Given the description of an element on the screen output the (x, y) to click on. 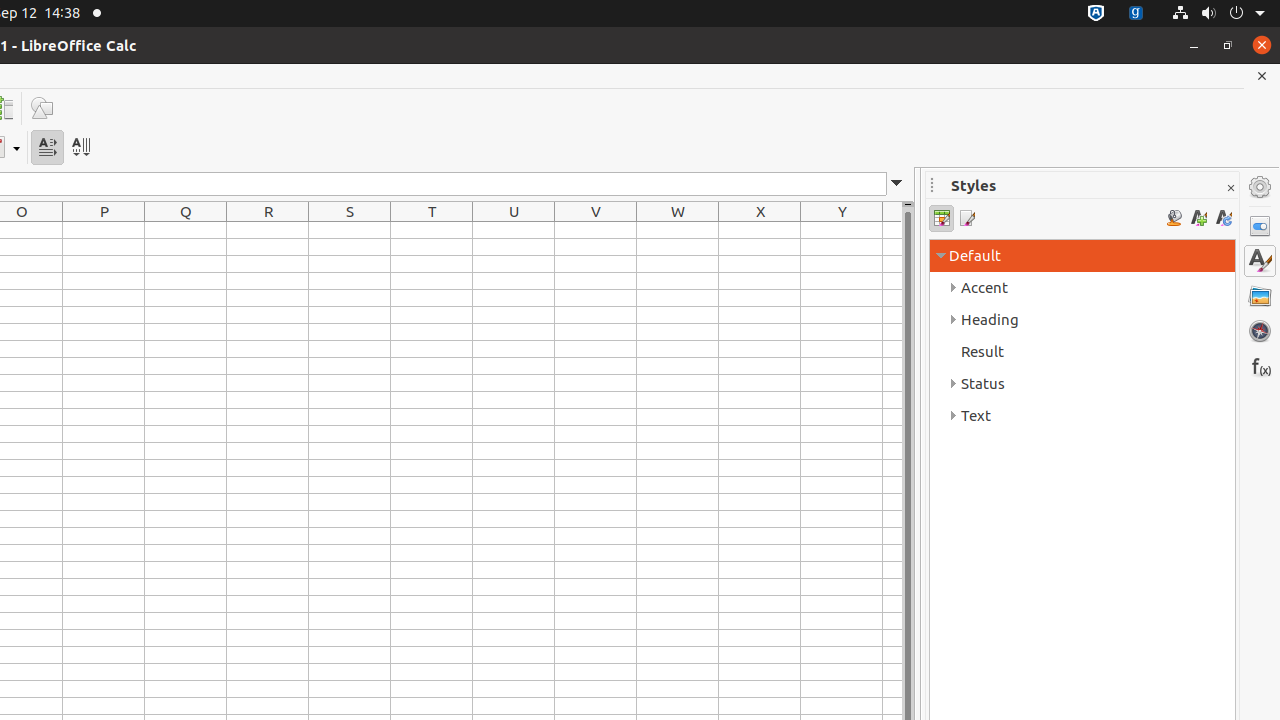
:1.72/StatusNotifierItem Element type: menu (1096, 13)
Draw Functions Element type: toggle-button (41, 108)
Y1 Element type: table-cell (842, 230)
New Style from Selection Element type: push-button (1198, 218)
Q1 Element type: table-cell (186, 230)
